Given the description of an element on the screen output the (x, y) to click on. 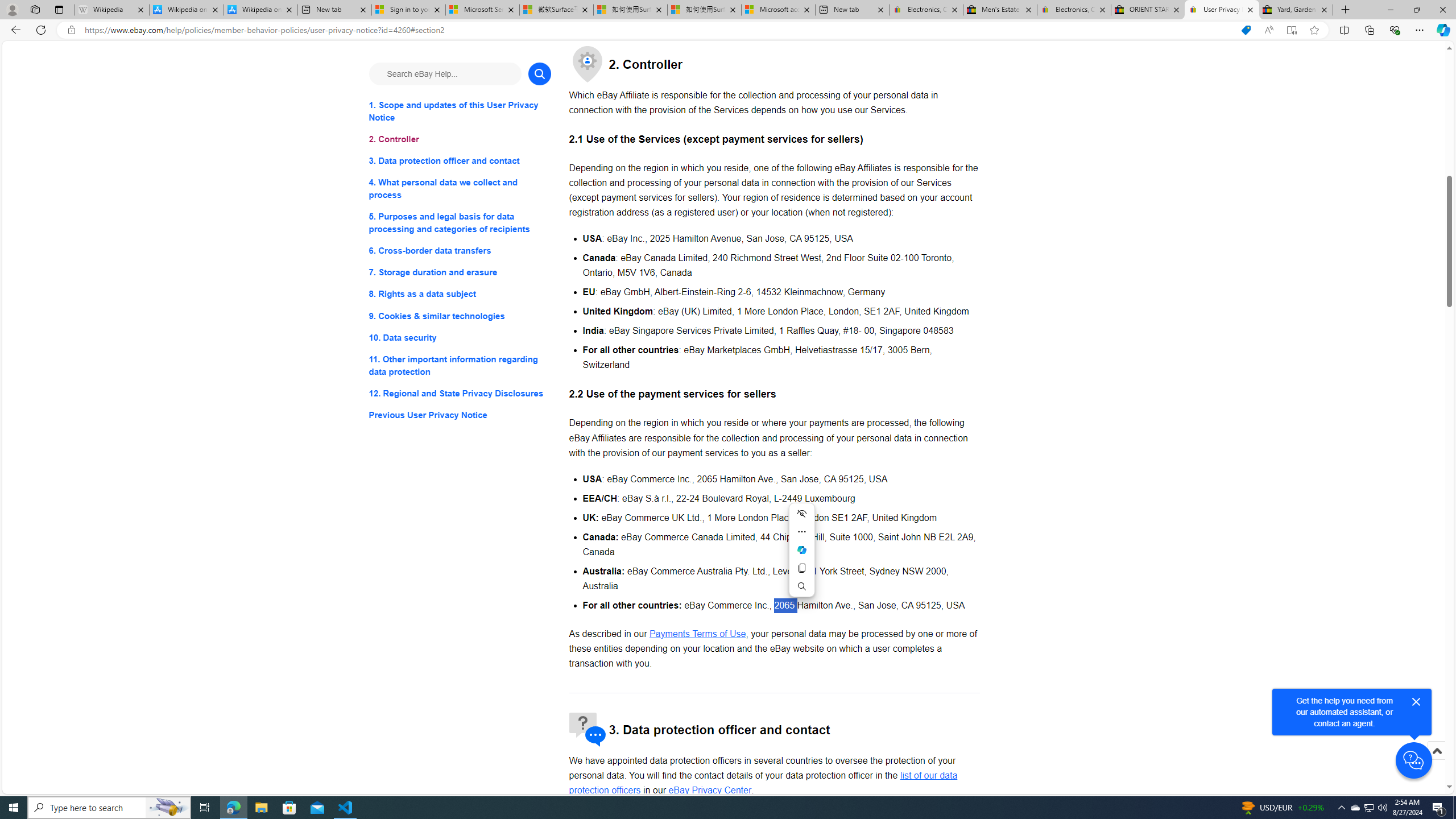
2. Controller (459, 138)
Mini menu on text selection (801, 549)
More actions (801, 531)
This site has coupons! Shopping in Microsoft Edge (1245, 29)
9. Cookies & similar technologies (459, 315)
